Given the description of an element on the screen output the (x, y) to click on. 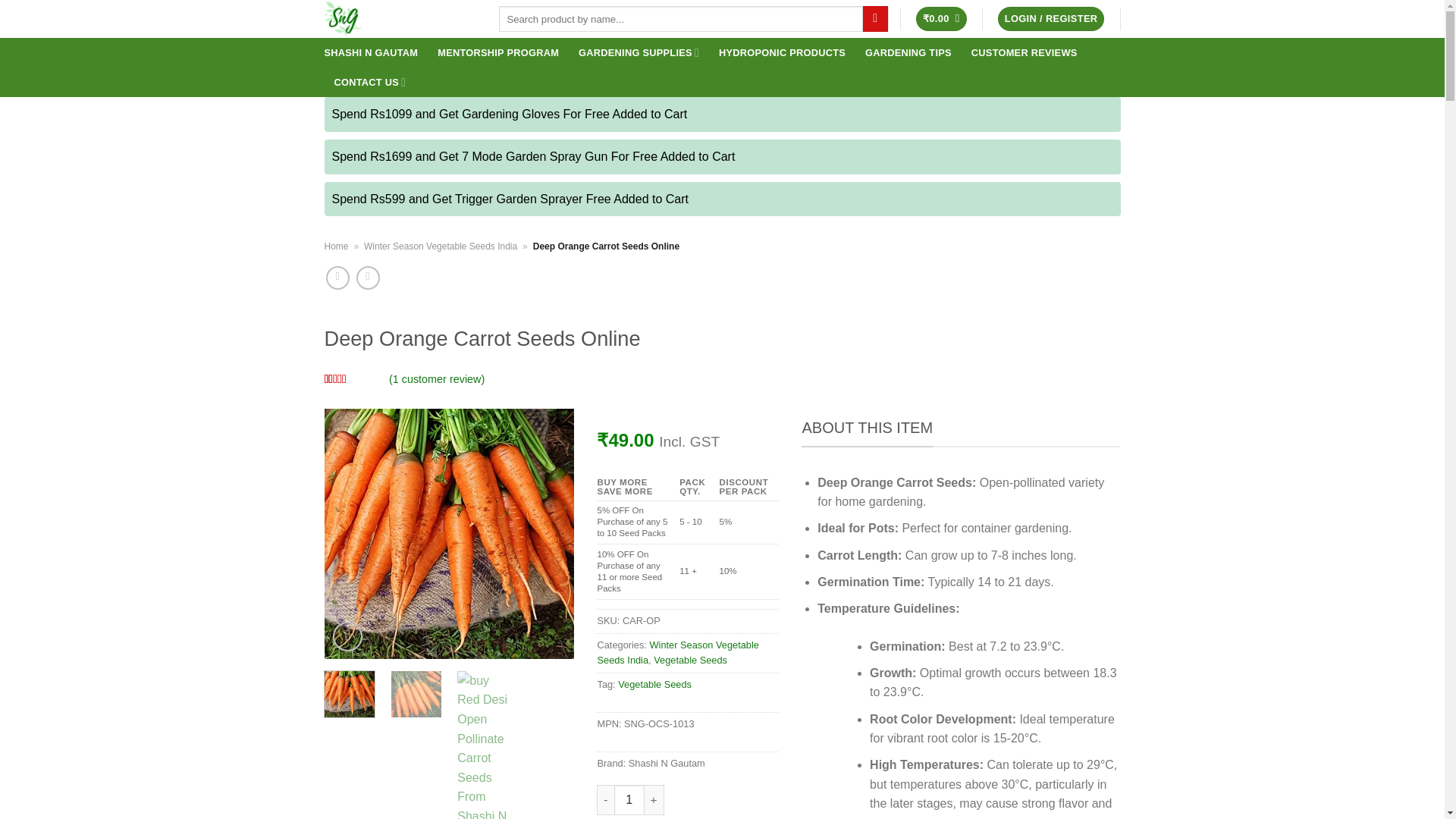
CUSTOMER REVIEWS (1024, 52)
MENTORSHIP PROGRAM (498, 52)
Shashi n Gautam - For all your plant needs Since 2017 (400, 18)
1 (629, 799)
CONTACT US (369, 82)
Winter Season Vegetable Seeds India (440, 245)
Home (336, 245)
GARDENING SUPPLIES (638, 52)
SHASHI N GAUTAM (371, 52)
Zoom (347, 636)
